Given the description of an element on the screen output the (x, y) to click on. 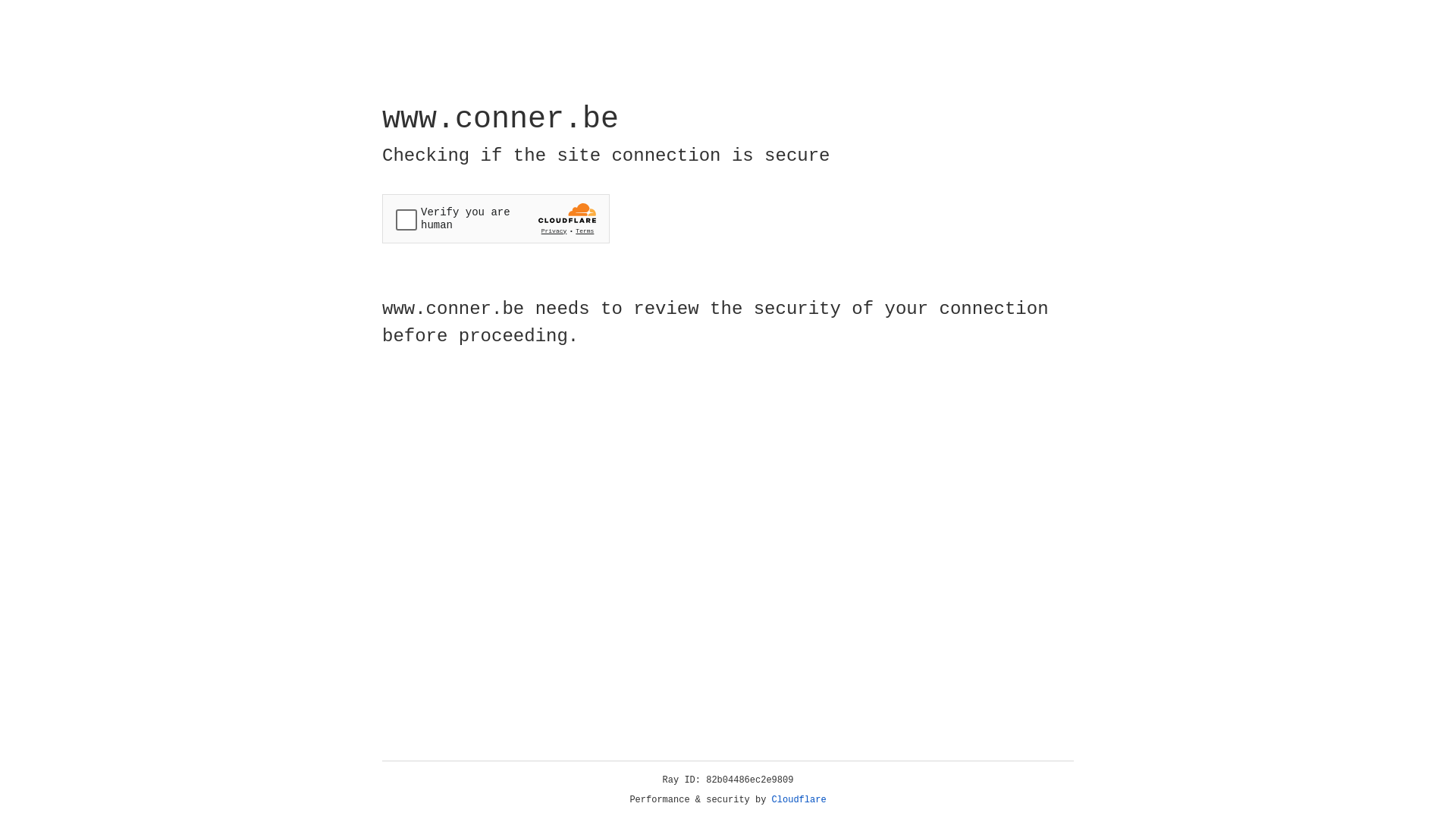
Cloudflare Element type: text (798, 799)
Widget containing a Cloudflare security challenge Element type: hover (495, 218)
